Given the description of an element on the screen output the (x, y) to click on. 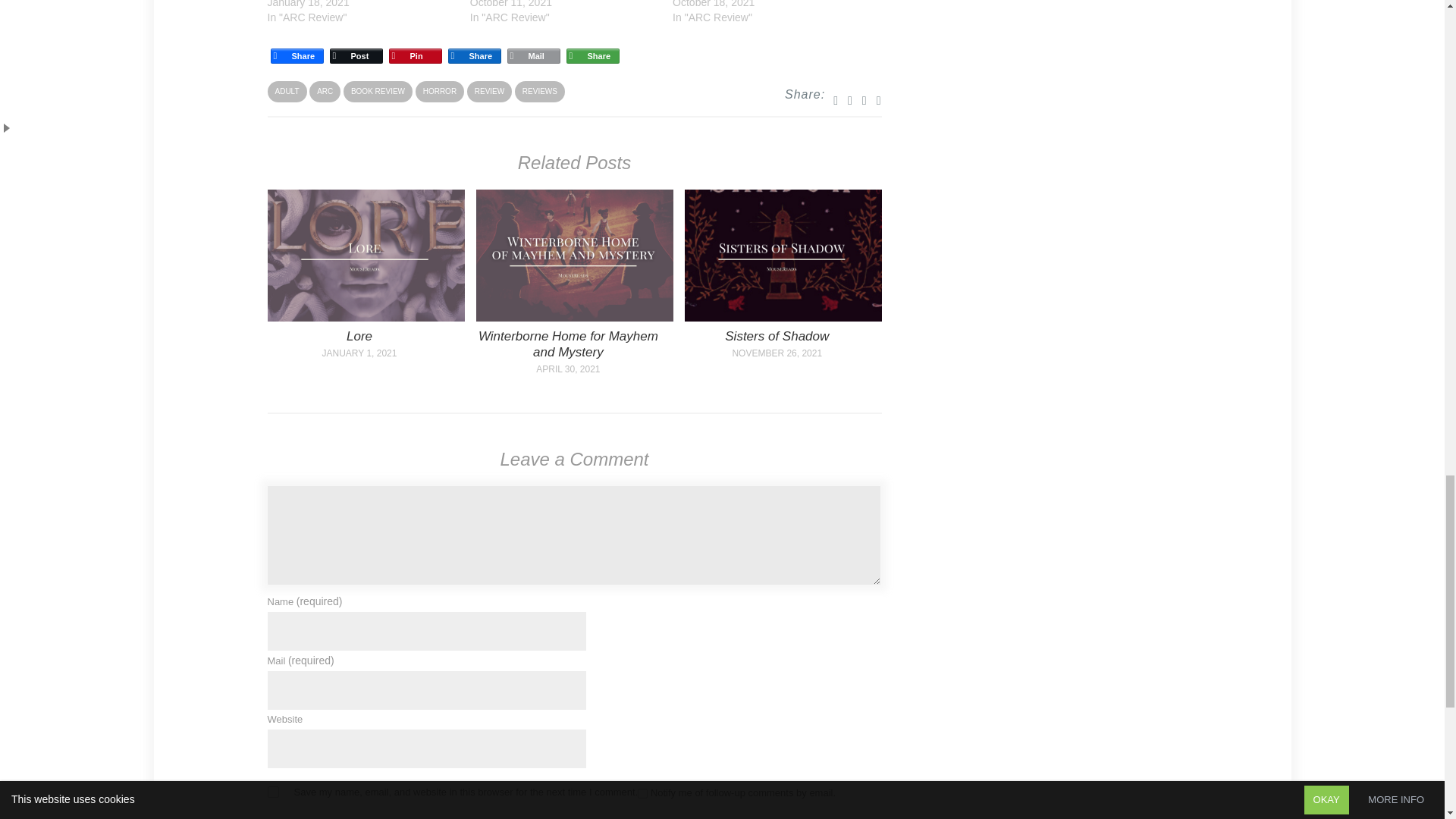
Pinterest (414, 55)
Facebook (296, 55)
LinkedIn (473, 55)
